Given the description of an element on the screen output the (x, y) to click on. 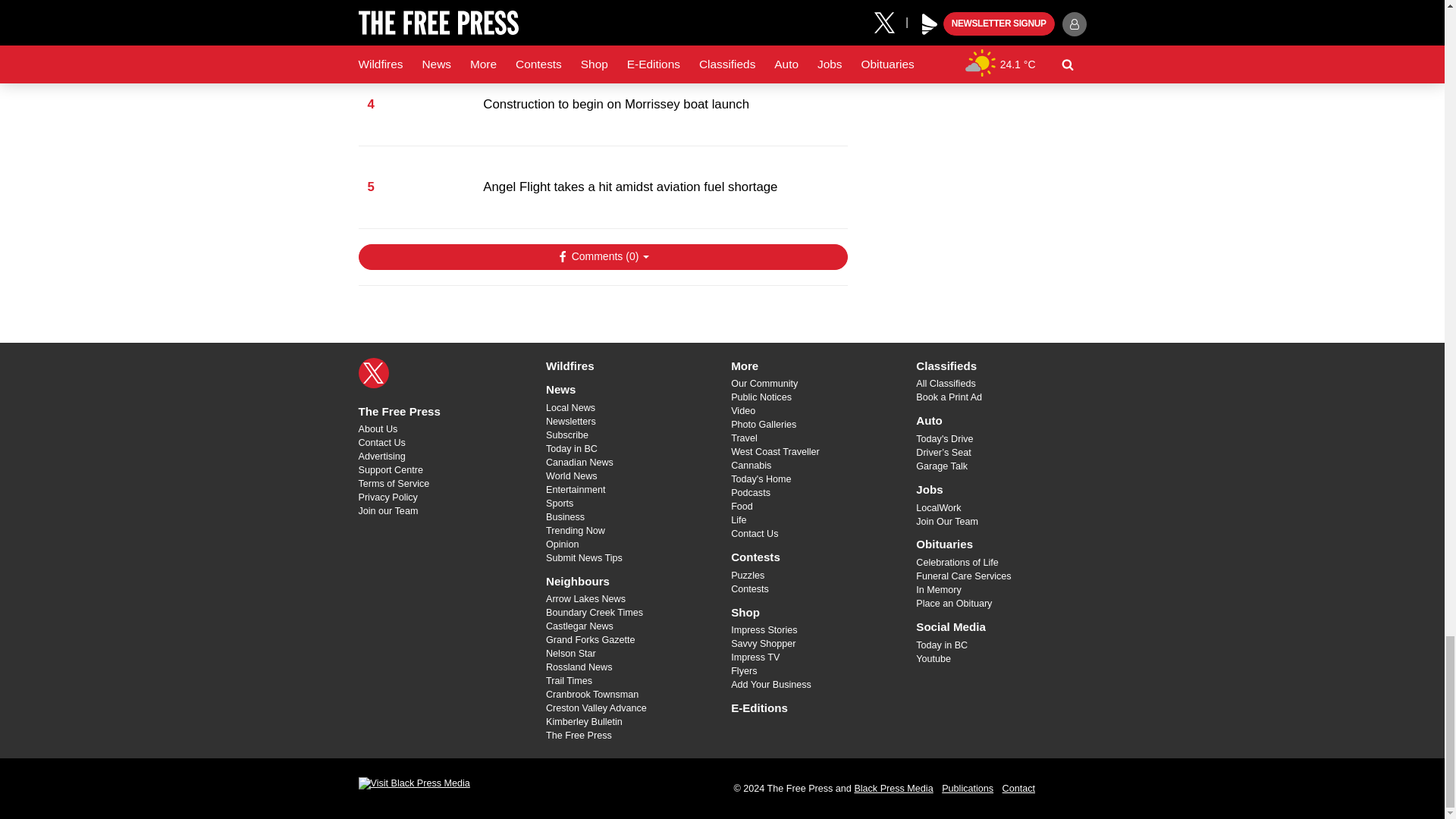
X (373, 372)
Show Comments (602, 257)
